Given the description of an element on the screen output the (x, y) to click on. 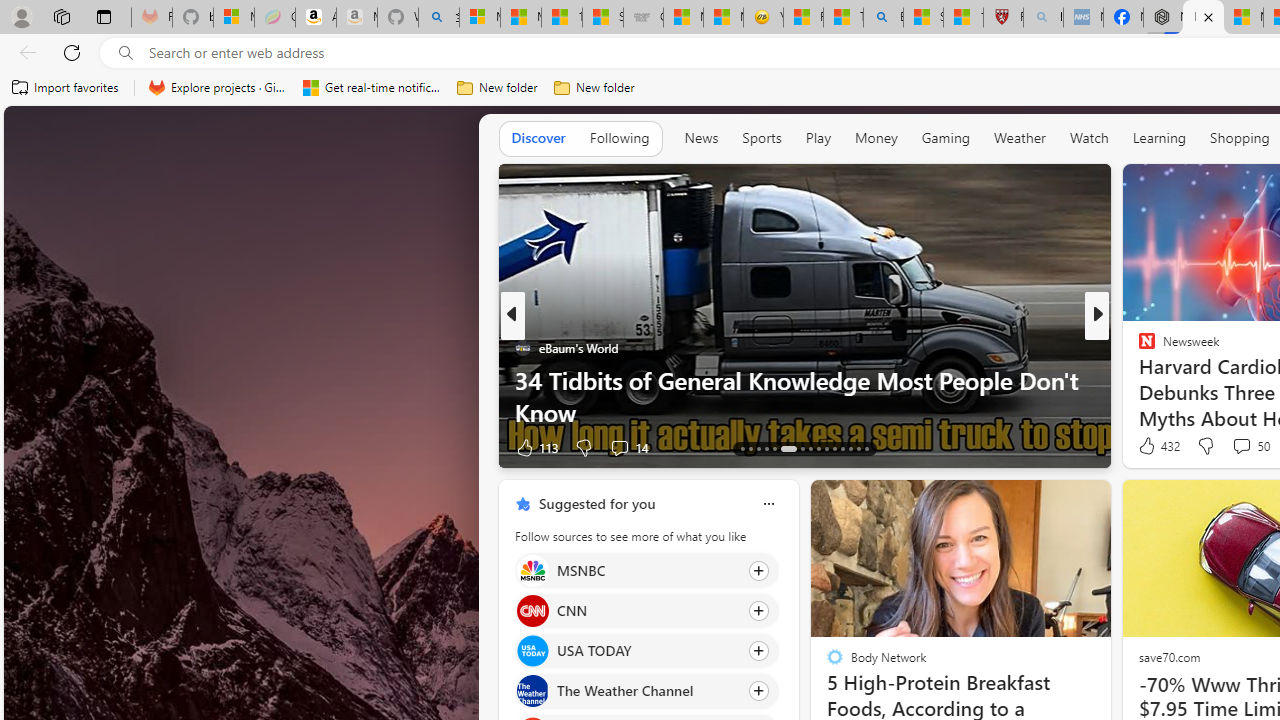
View comments 50 Comment (1249, 446)
Gaming (945, 138)
INSIDER (1138, 347)
View comments 6 Comment (1241, 447)
AutomationID: tab-73 (810, 448)
Body Network (1138, 380)
CNN (532, 610)
Irish Star (1138, 380)
View comments 28 Comment (1229, 447)
Weather (1020, 137)
